Given the description of an element on the screen output the (x, y) to click on. 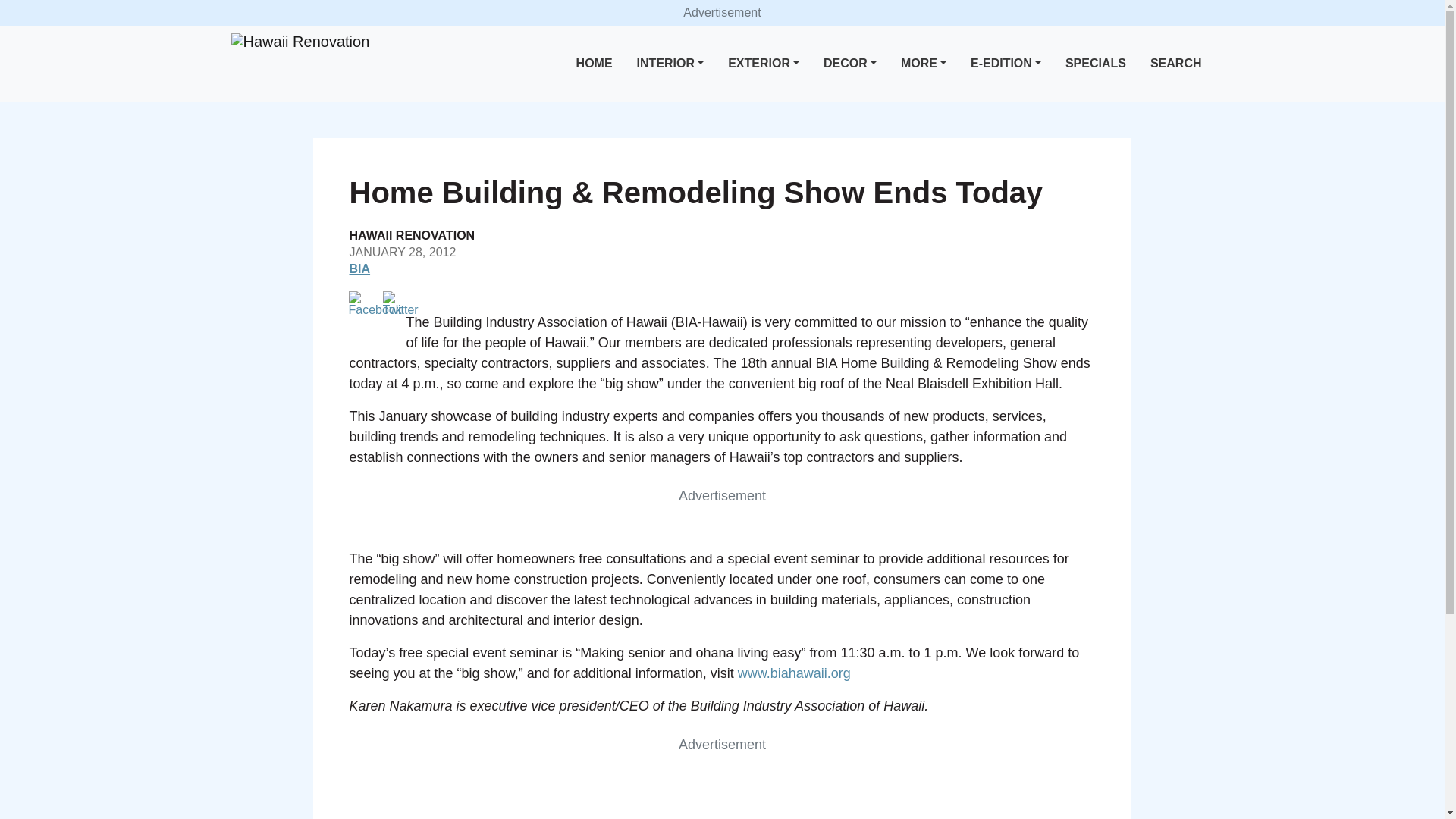
Hawaii Renovation (299, 41)
DECOR (849, 63)
Twitter (399, 303)
Facebook (375, 303)
E-EDITION (1004, 63)
HOME (594, 63)
EXTERIOR (763, 63)
SPECIALS (1095, 63)
BIA (359, 268)
MORE (923, 63)
